Given the description of an element on the screen output the (x, y) to click on. 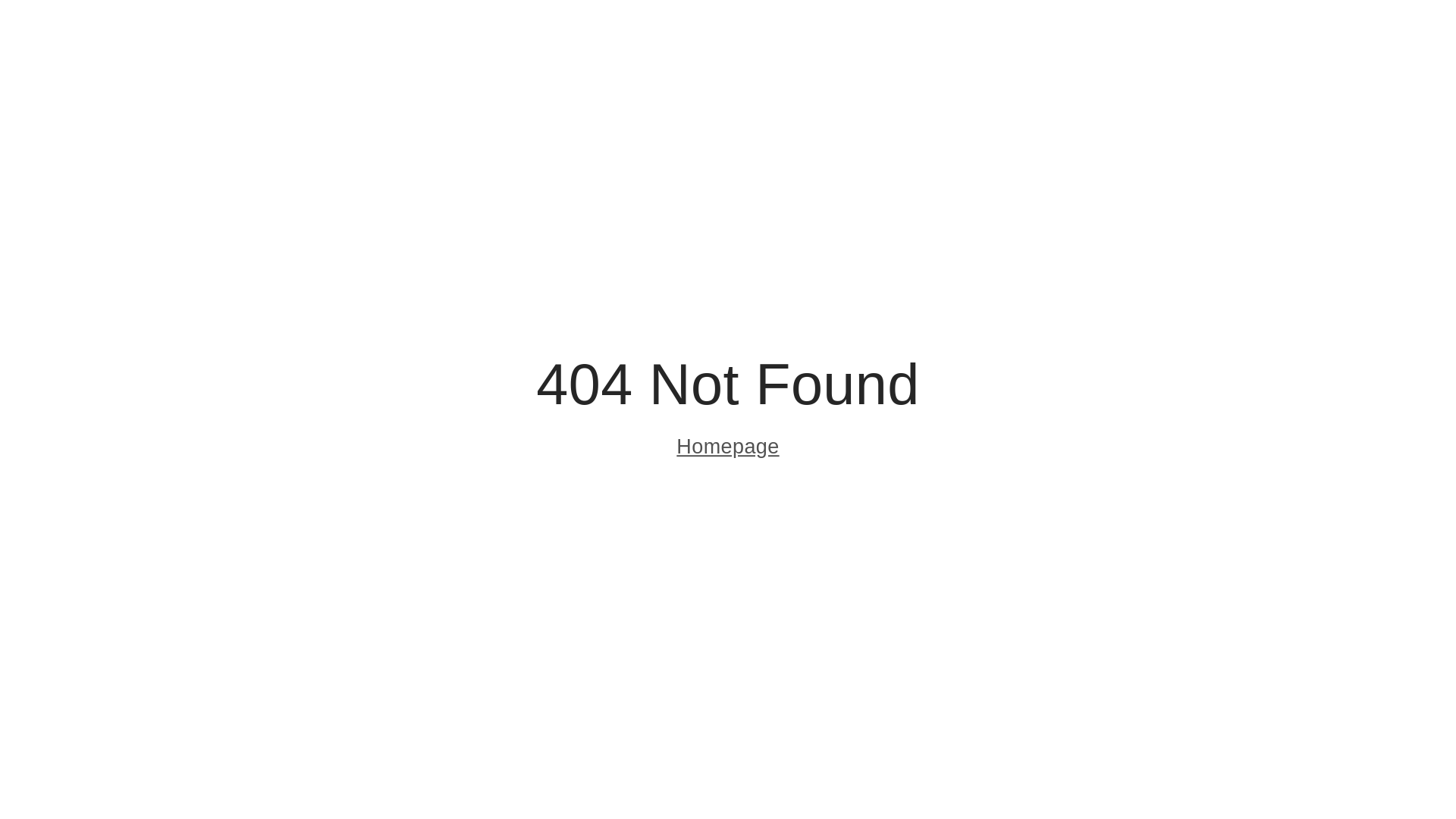
Homepage Element type: text (727, 448)
